Given the description of an element on the screen output the (x, y) to click on. 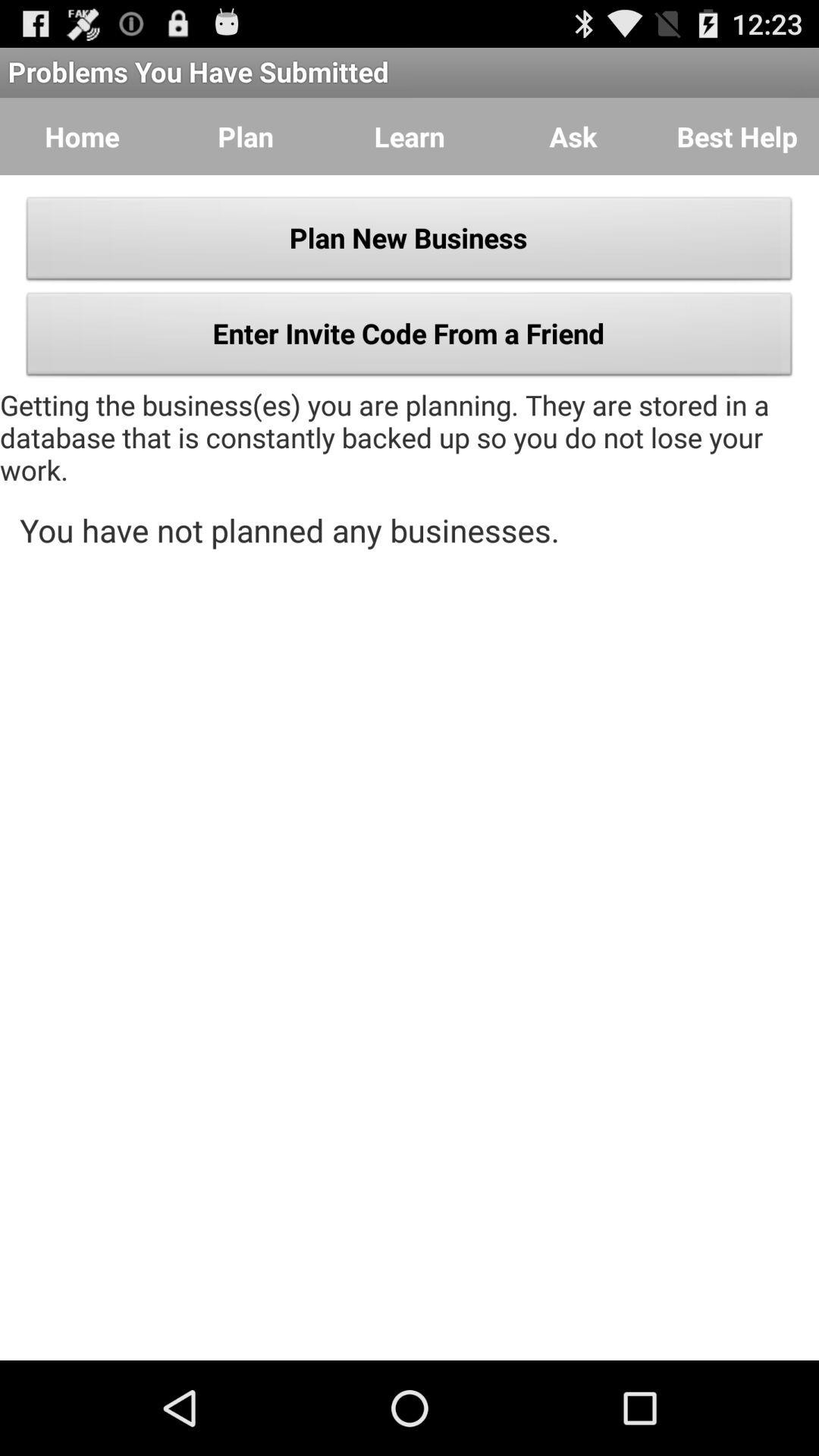
launch button next to the learn icon (573, 136)
